Given the description of an element on the screen output the (x, y) to click on. 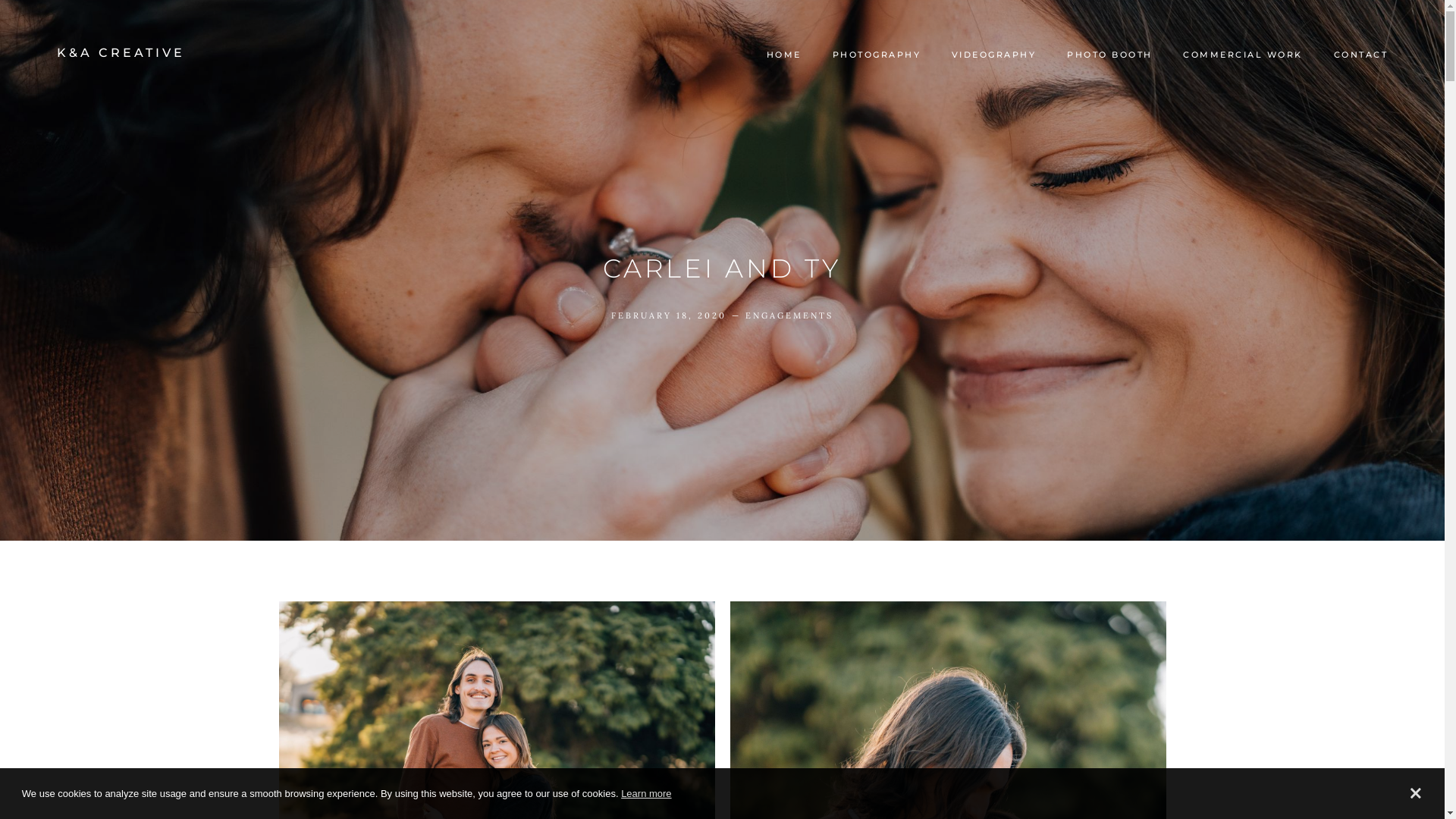
Learn more Element type: text (646, 793)
K&A CREATIVE Element type: text (120, 52)
VIDEOGRAPHY Element type: text (993, 55)
PHOTOGRAPHY Element type: text (875, 55)
PHOTO BOOTH Element type: text (1109, 55)
ENGAGEMENTS Element type: text (789, 315)
CONTACT Element type: text (1360, 55)
COMMERCIAL WORK Element type: text (1242, 55)
HOME Element type: text (784, 55)
